Given the description of an element on the screen output the (x, y) to click on. 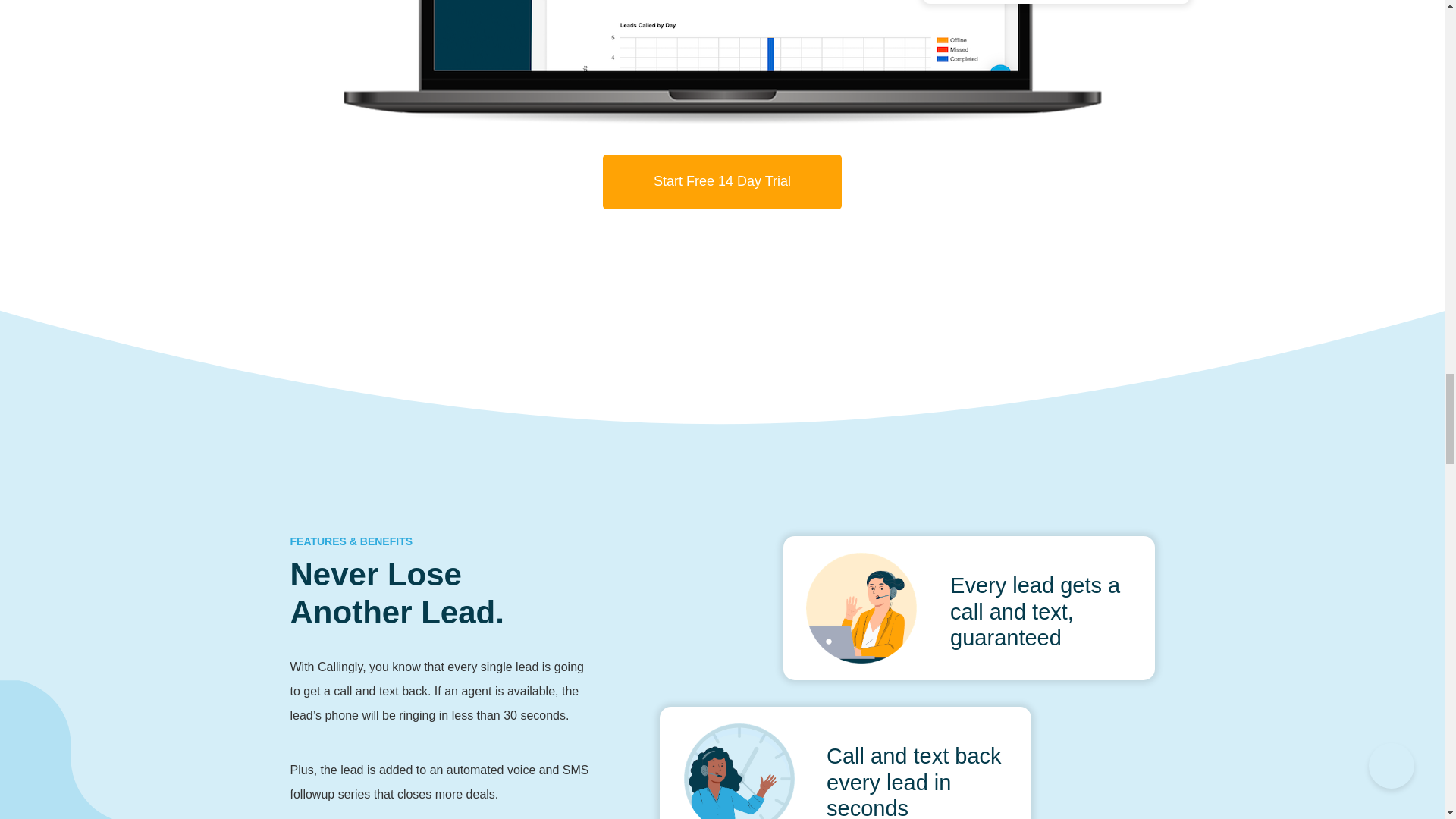
reporting-computer (721, 62)
